Given the description of an element on the screen output the (x, y) to click on. 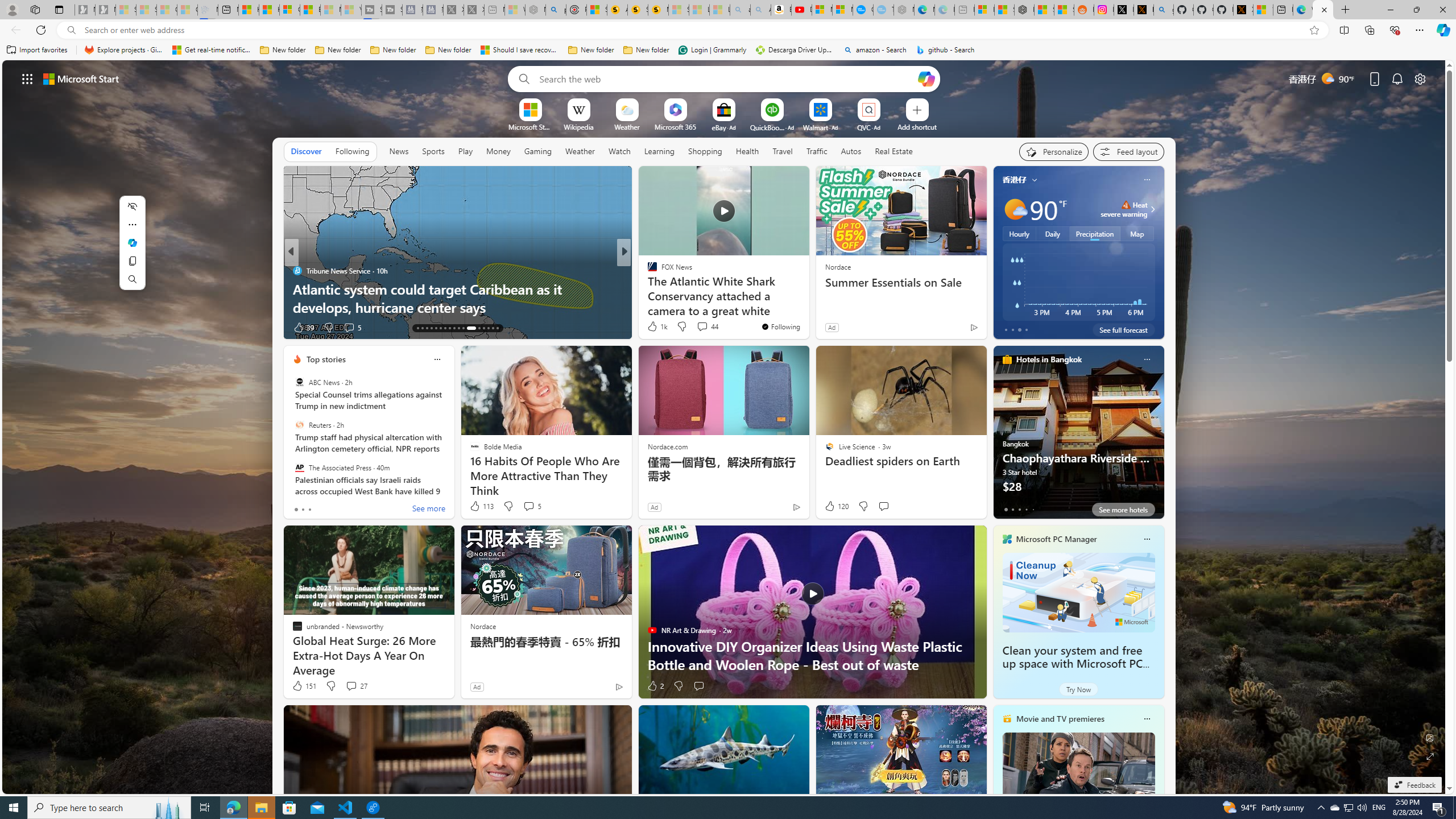
tab-4 (1032, 509)
Microsoft start (81, 78)
Michelle Starr, Senior Journalist at ScienceAlert (657, 9)
Chaophayathara Riverside Hotel (1078, 436)
128 Like (654, 327)
